Given the description of an element on the screen output the (x, y) to click on. 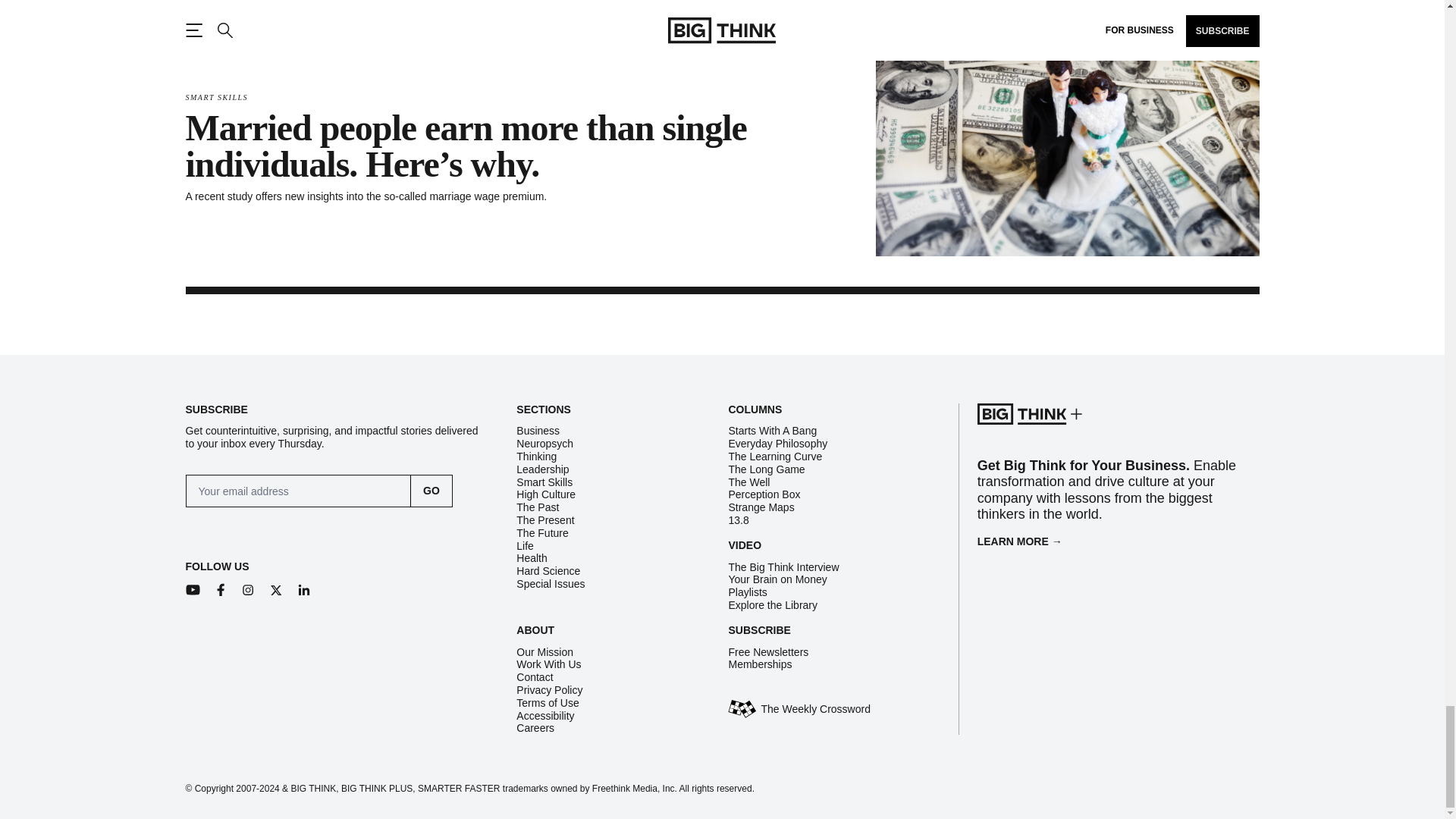
Go (431, 490)
